Given the description of an element on the screen output the (x, y) to click on. 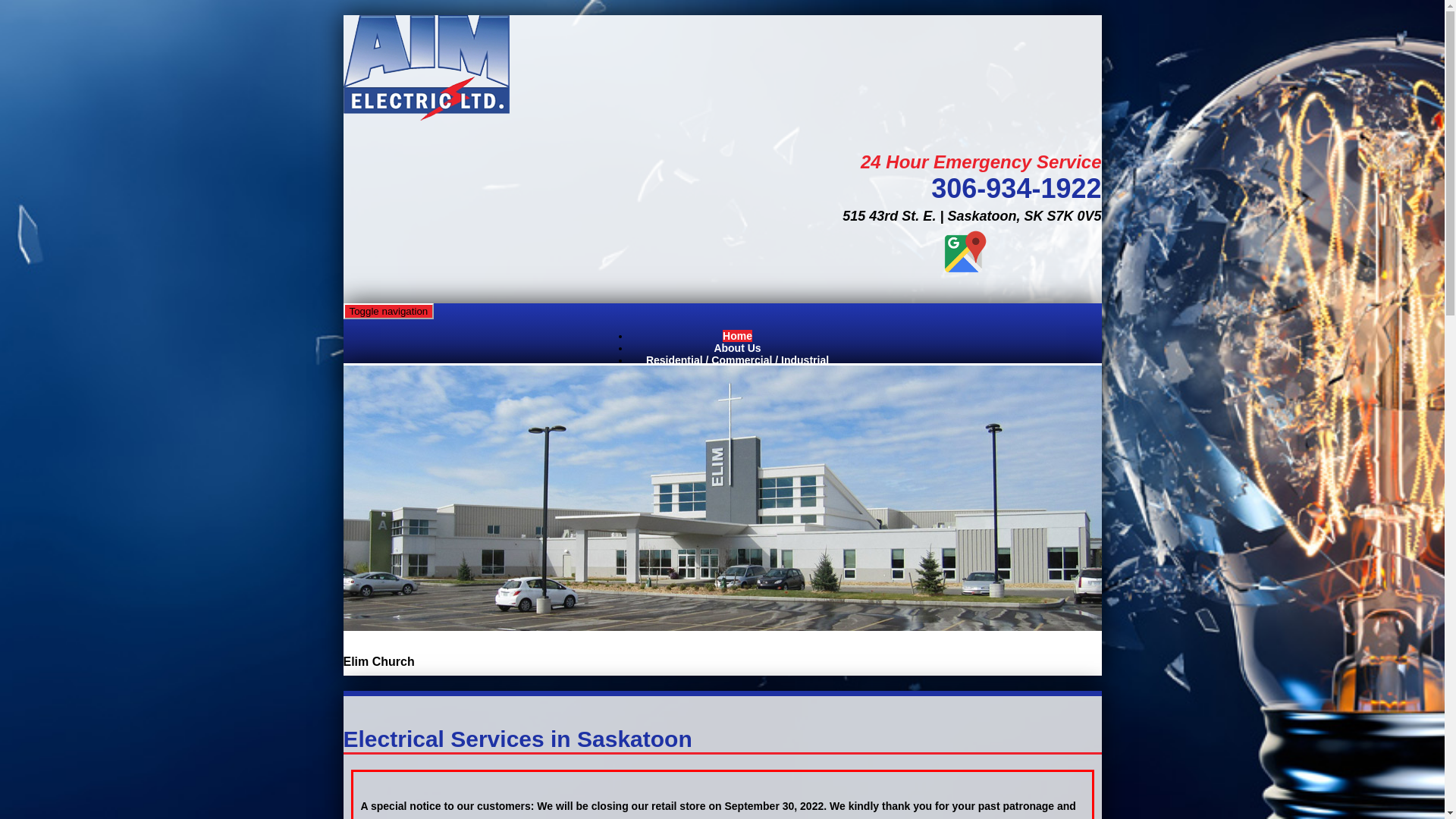
Residential / Commercial / Industrial Element type: text (737, 360)
Toggle navigation Element type: text (387, 311)
Home Element type: text (737, 335)
Contact Us Element type: text (737, 372)
Aim Electric Ltd  (Saskatoon), Electrician, Saskatoon, SK Element type: hover (1044, 258)
306-934-1922 Element type: text (1016, 187)
About Us Element type: text (736, 348)
